Given the description of an element on the screen output the (x, y) to click on. 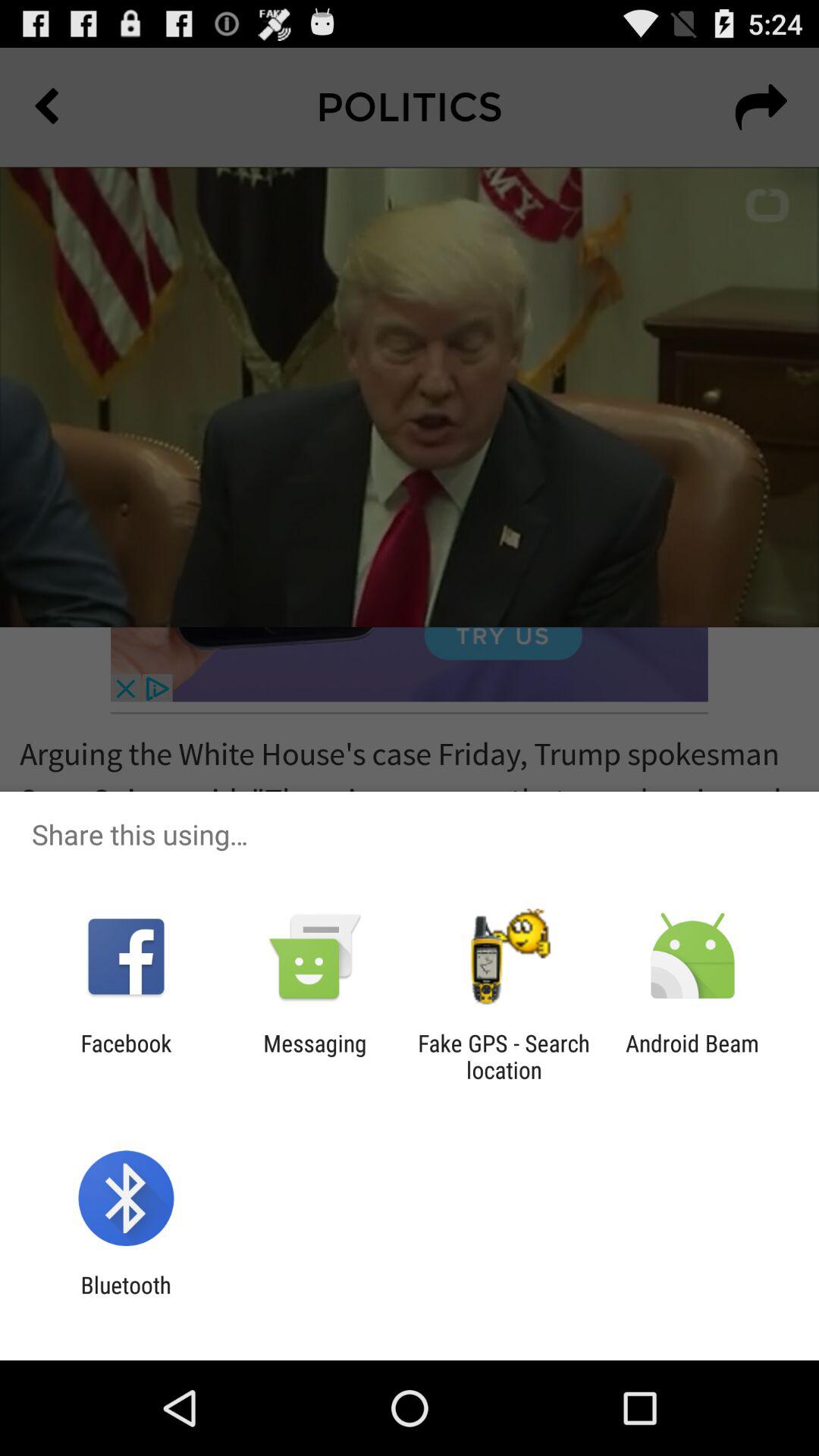
turn on the app next to messaging icon (503, 1056)
